Given the description of an element on the screen output the (x, y) to click on. 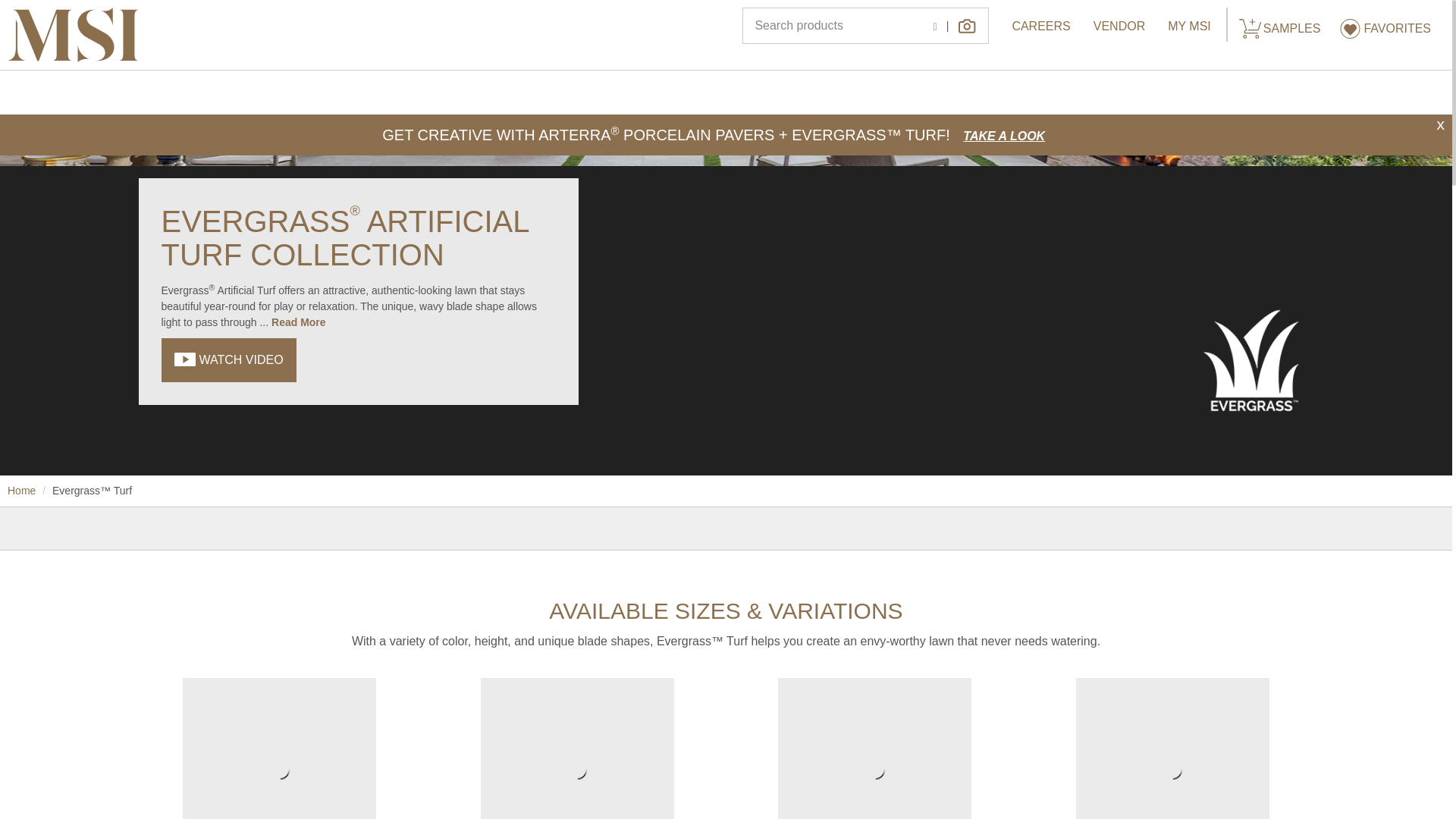
FAVORITES (1388, 28)
VENDOR (1118, 26)
SAMPLES (1281, 28)
MY MSI (1189, 26)
CAREERS (1040, 26)
